Given the description of an element on the screen output the (x, y) to click on. 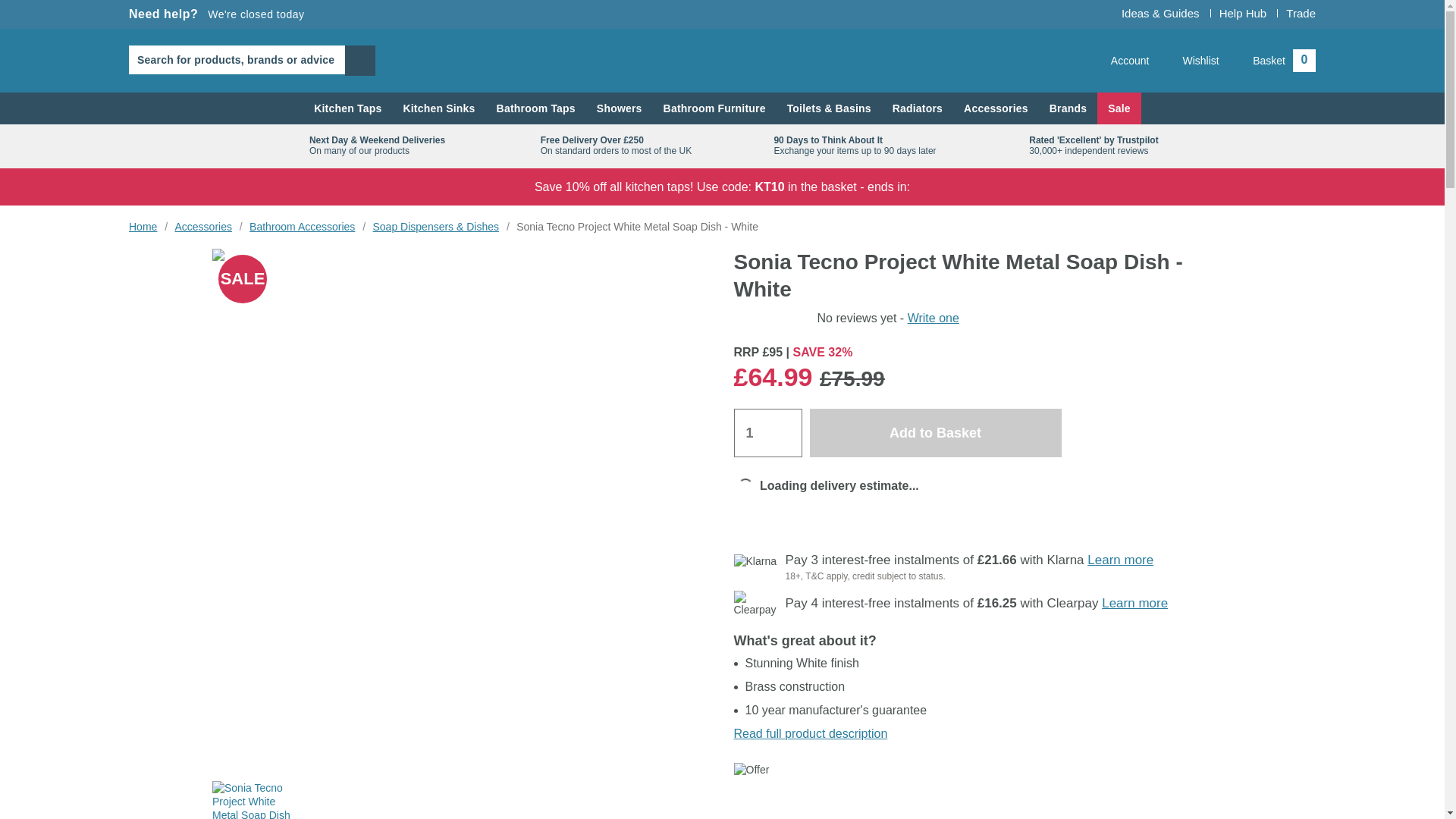
Kitchen Sinks (437, 108)
Kitchen Taps (346, 108)
Showers (619, 108)
Recommended Retail Price (746, 351)
Tap Warehouse (722, 60)
Need help? We're closed today (1275, 60)
Trade (216, 14)
Sale (1300, 12)
Bathroom Taps (1119, 108)
